Given the description of an element on the screen output the (x, y) to click on. 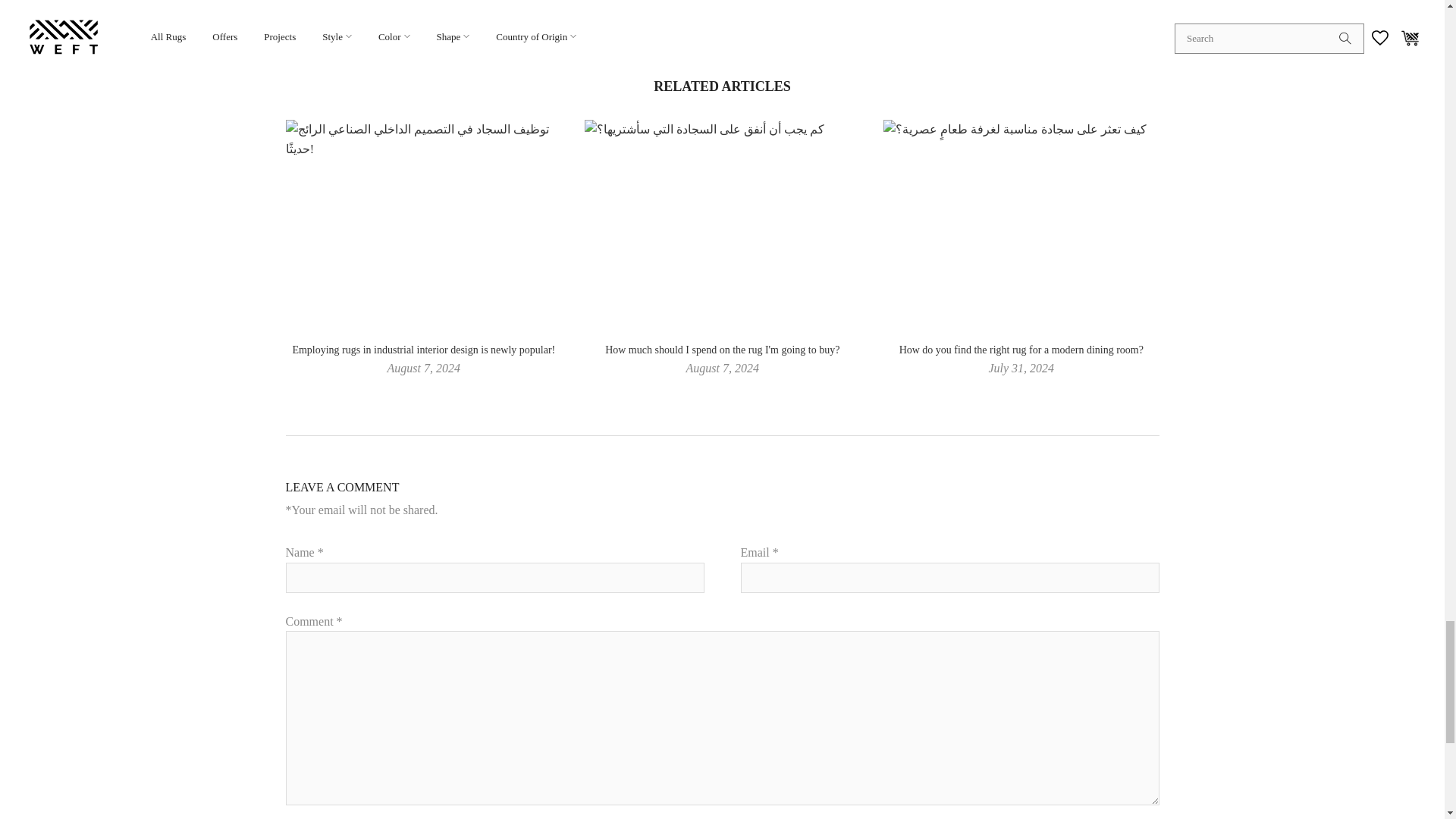
When is the best time to buy carpets?  (646, 20)
Back To Carpet World Blog - Weft Carpets (722, 20)
Why do we love decorating in neutral colors? (797, 20)
How much should I spend on the rug I'm going to buy? (722, 349)
